Given the description of an element on the screen output the (x, y) to click on. 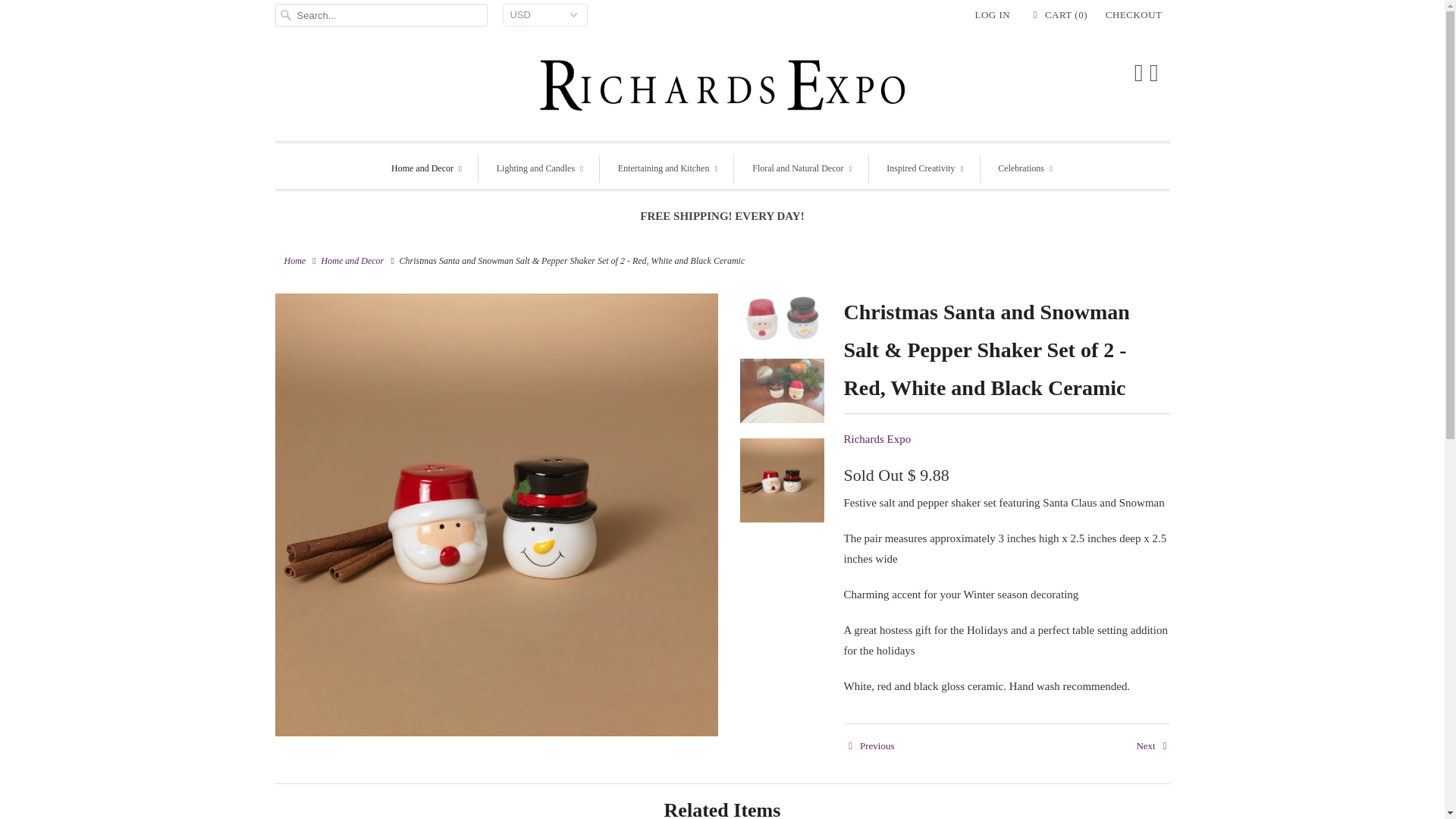
Home and Decor (352, 260)
CHECKOUT (1133, 15)
LOG IN (992, 15)
Richards Expo (294, 260)
Richards Expo (721, 89)
Richards Expo (877, 439)
